Given the description of an element on the screen output the (x, y) to click on. 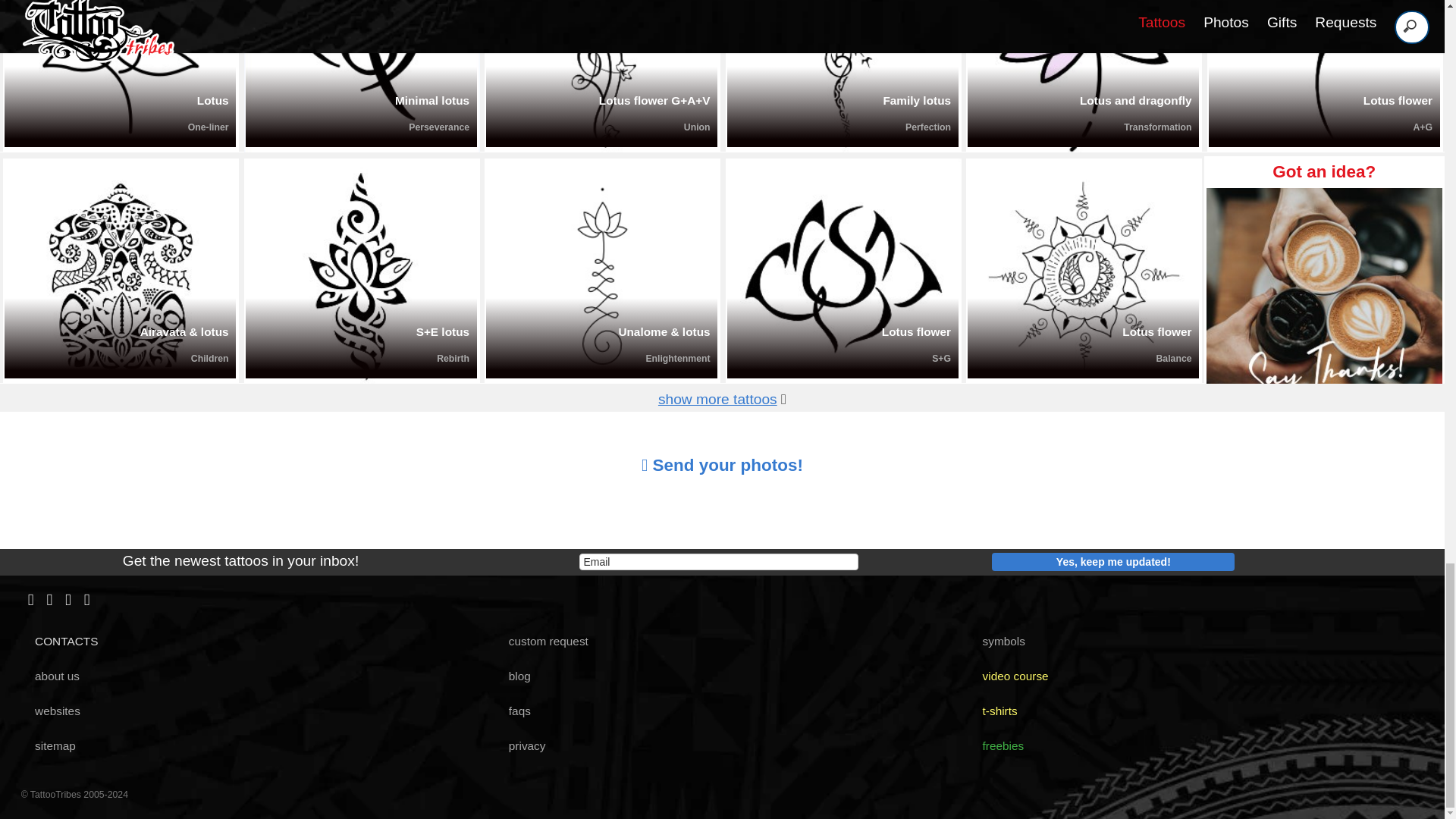
Tattoo gift shop (993, 710)
Privacy policy (520, 745)
sitemap (49, 745)
About us (51, 675)
Custom tattoo requests (542, 640)
TattooTribes blog (512, 675)
Polynesian tattoo symbols wiki (998, 640)
Frequently Asked Questions (512, 710)
Polynesian Tattoos 101 video course (1009, 675)
Artists contacts (61, 640)
Our websites (51, 710)
